Given the description of an element on the screen output the (x, y) to click on. 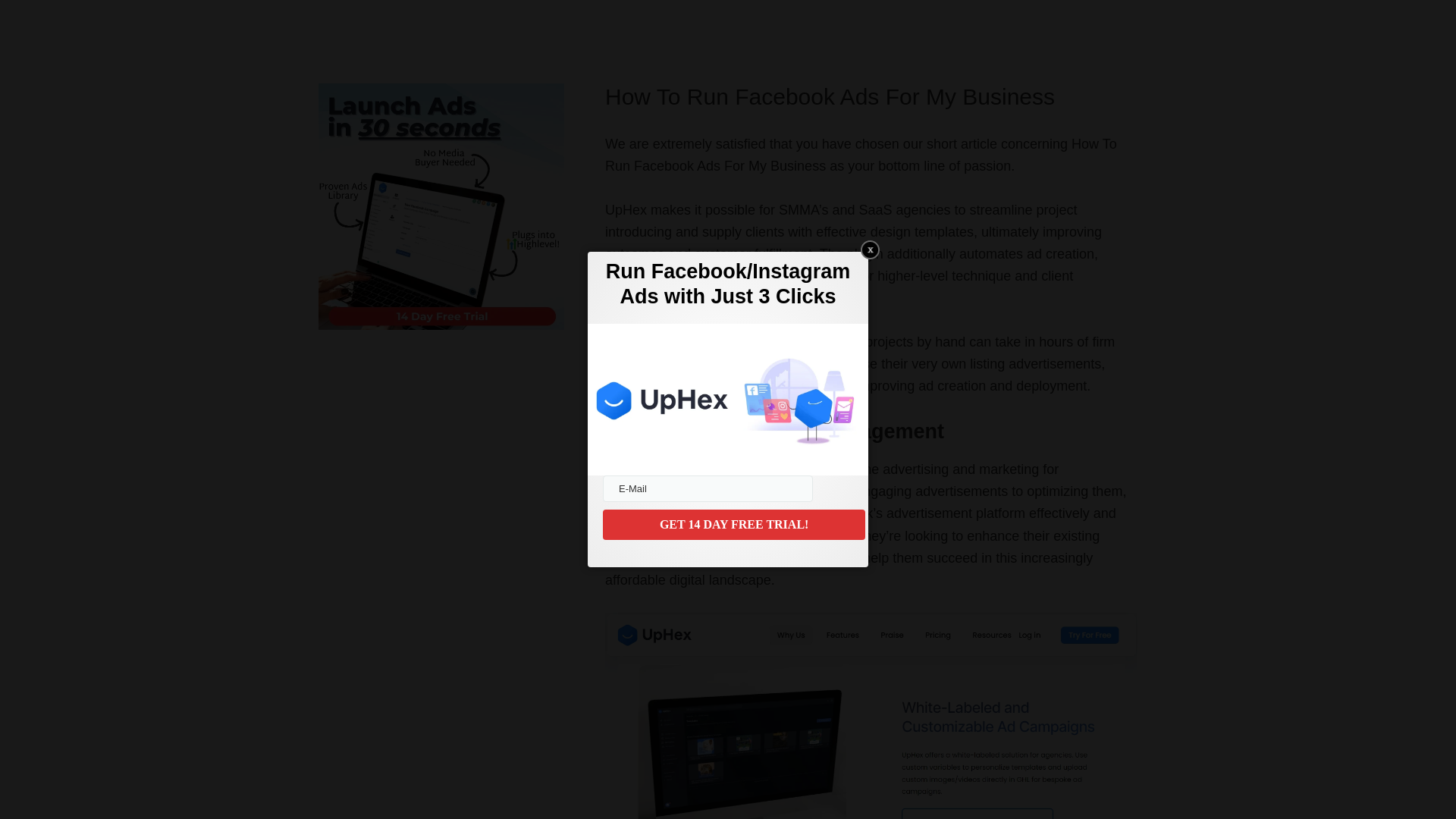
GET 14 DAY FREE TRIAL! (733, 524)
GET 14 DAY FREE TRIAL! (733, 524)
